Given the description of an element on the screen output the (x, y) to click on. 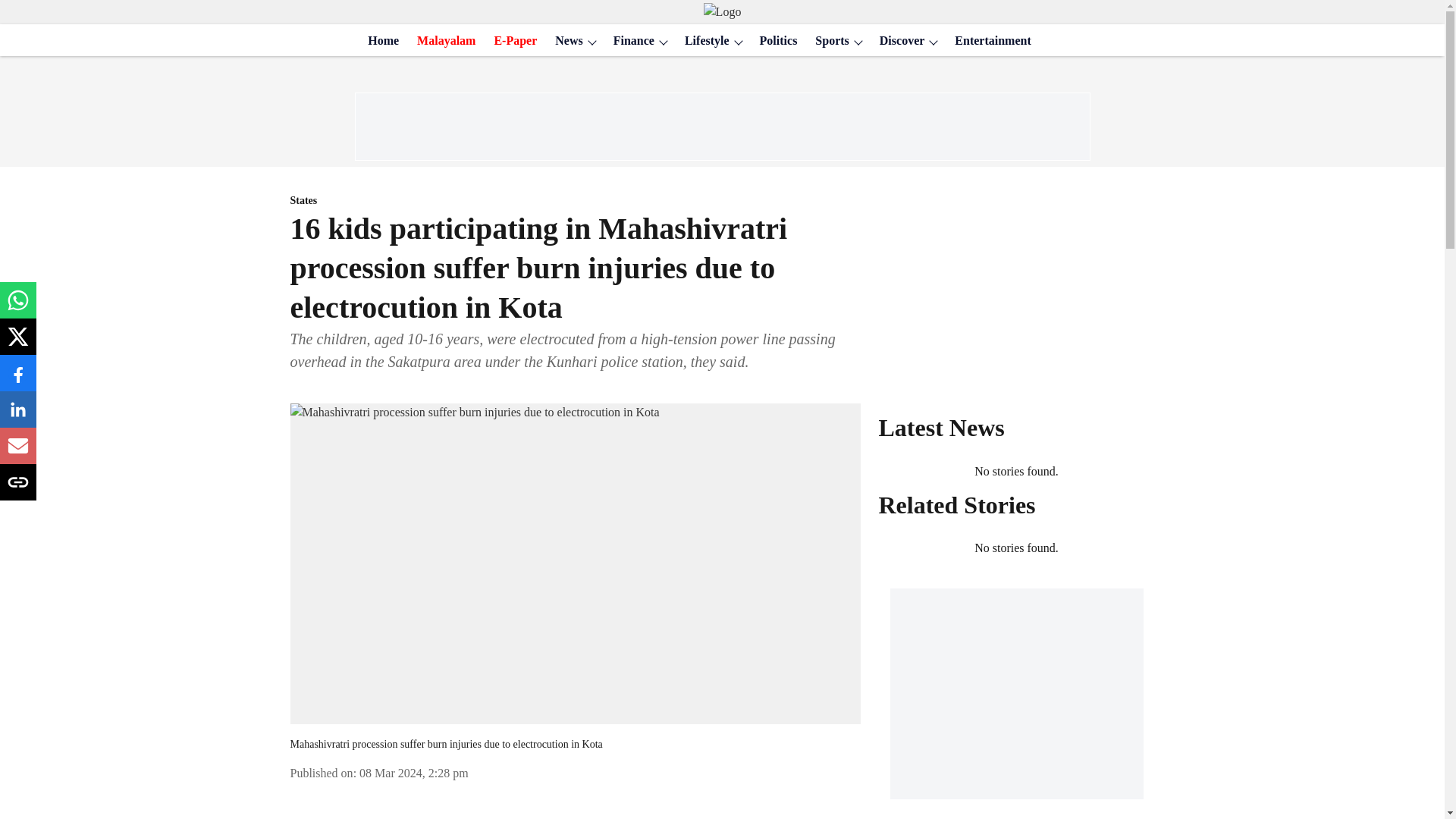
States (574, 201)
Politics (774, 40)
Finance (628, 40)
Lifestyle (702, 40)
E-Paper (510, 40)
2024-03-08 14:28 (413, 772)
Malayalam (441, 40)
Discover (897, 40)
News (564, 40)
Entertainment (987, 40)
